Given the description of an element on the screen output the (x, y) to click on. 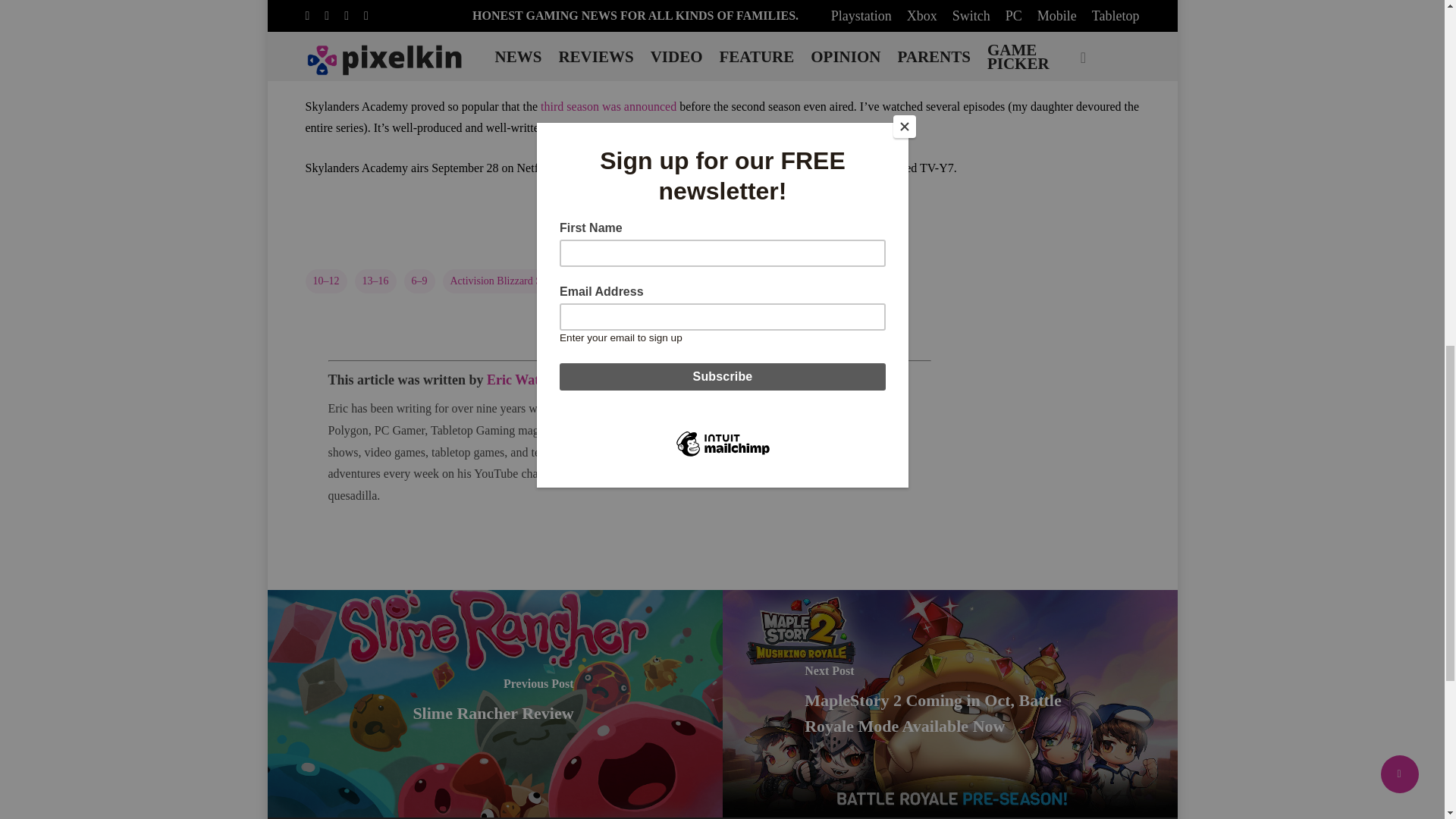
F3 (595, 281)
N3 (630, 281)
Netflix (674, 281)
Skylanders (735, 281)
third season was announced (608, 106)
Posts by Eric Watson (522, 379)
Activision Blizzard Studios (508, 281)
